Given the description of an element on the screen output the (x, y) to click on. 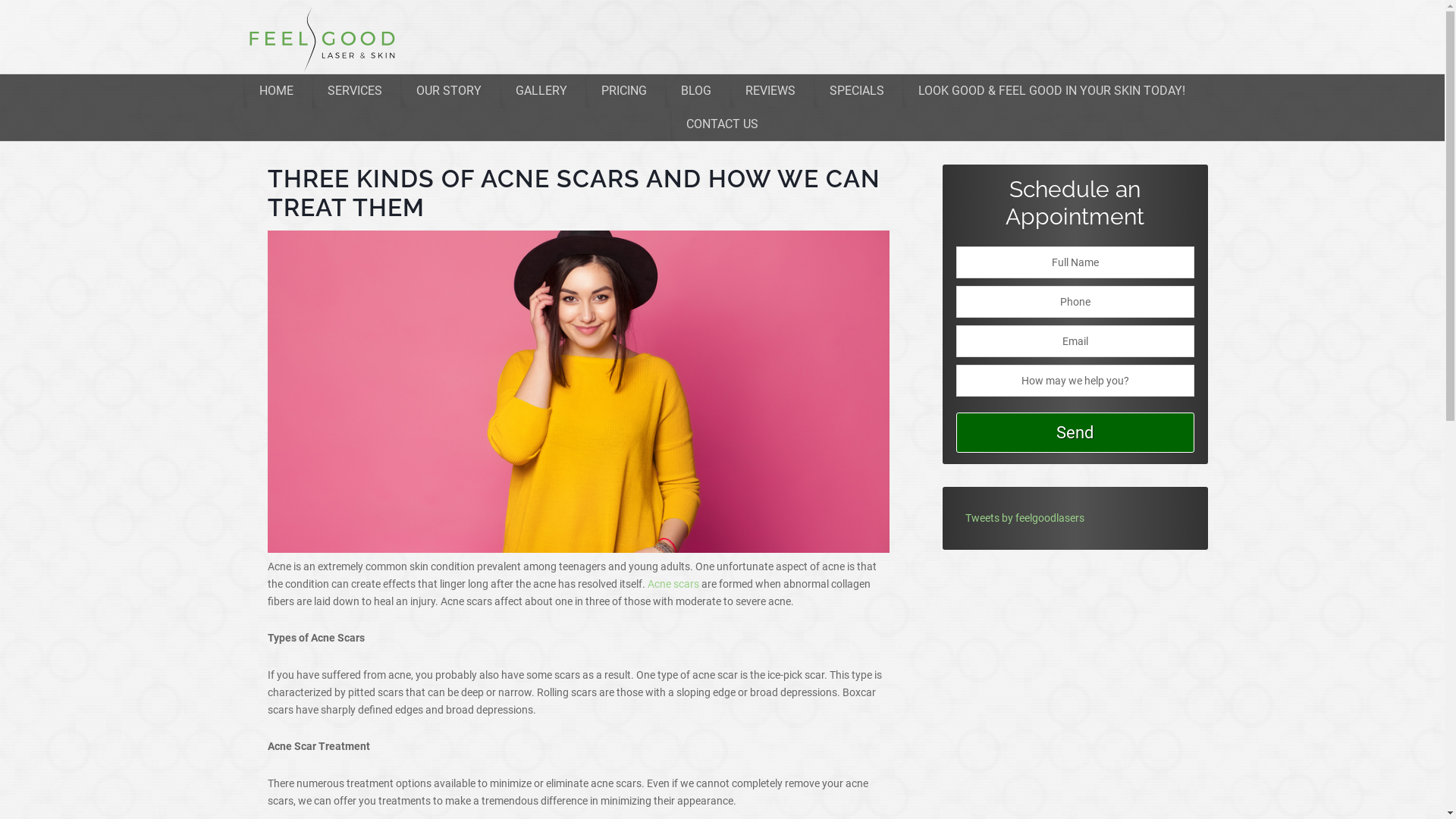
PRICING Element type: text (623, 90)
FEEL GOOD LASER AND SKIN Element type: text (315, 39)
CONTACT US Element type: text (722, 124)
Acne scars Element type: text (673, 583)
Three Kinds of Acne Scars and How We Can Treat Them Element type: hover (577, 548)
SERVICES Element type: text (354, 90)
Send Element type: text (1074, 432)
OUR STORY Element type: text (448, 90)
GALLERY Element type: text (541, 90)
SPECIALS Element type: text (856, 90)
REVIEWS Element type: text (770, 90)
LOOK GOOD & FEEL GOOD IN YOUR SKIN TODAY! Element type: text (1051, 90)
Tweets by feelgoodlasers Element type: text (1023, 517)
HOME Element type: text (276, 90)
BLOG Element type: text (696, 90)
